Given the description of an element on the screen output the (x, y) to click on. 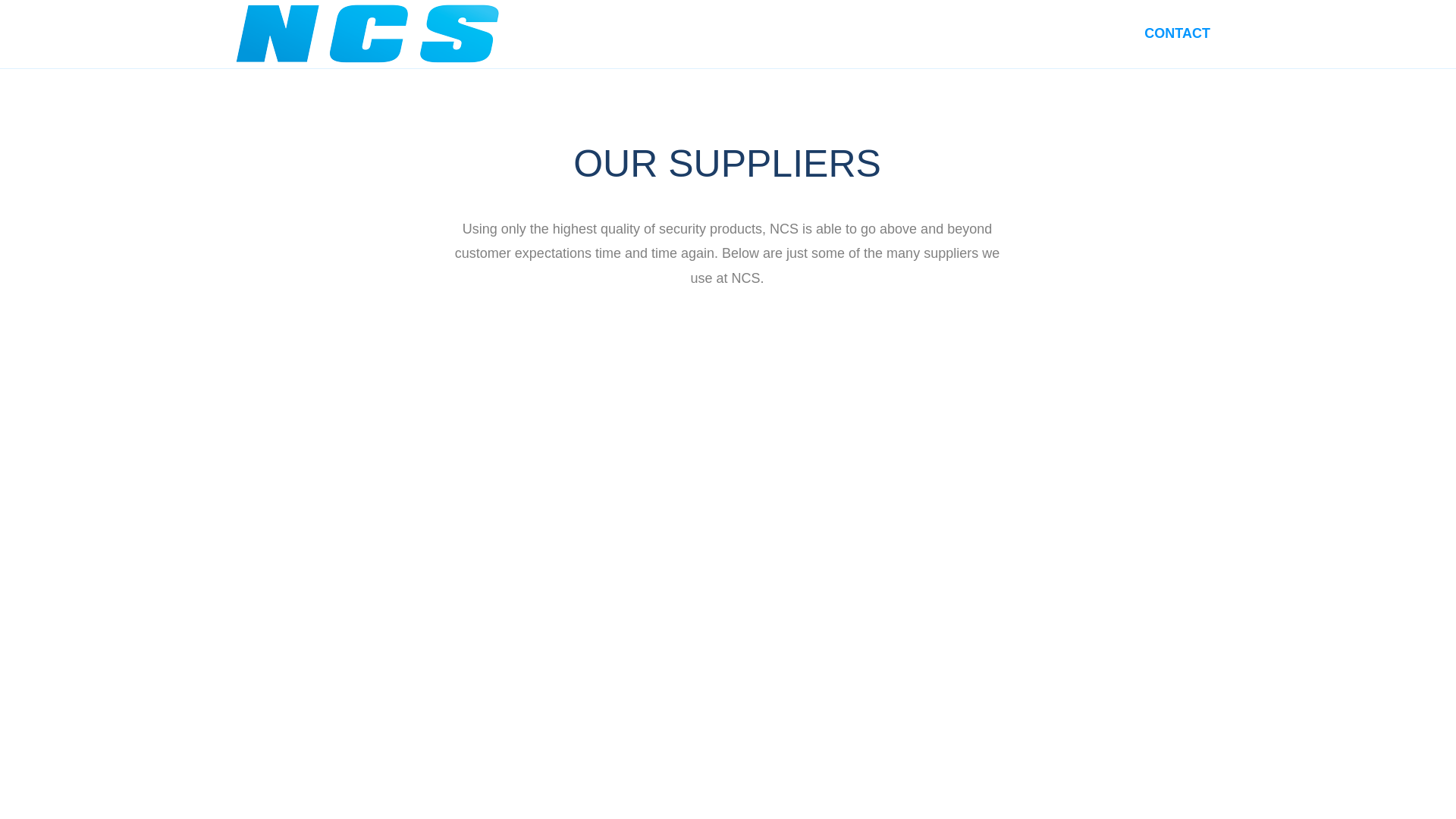
CONTACT Element type: text (1176, 33)
